Given the description of an element on the screen output the (x, y) to click on. 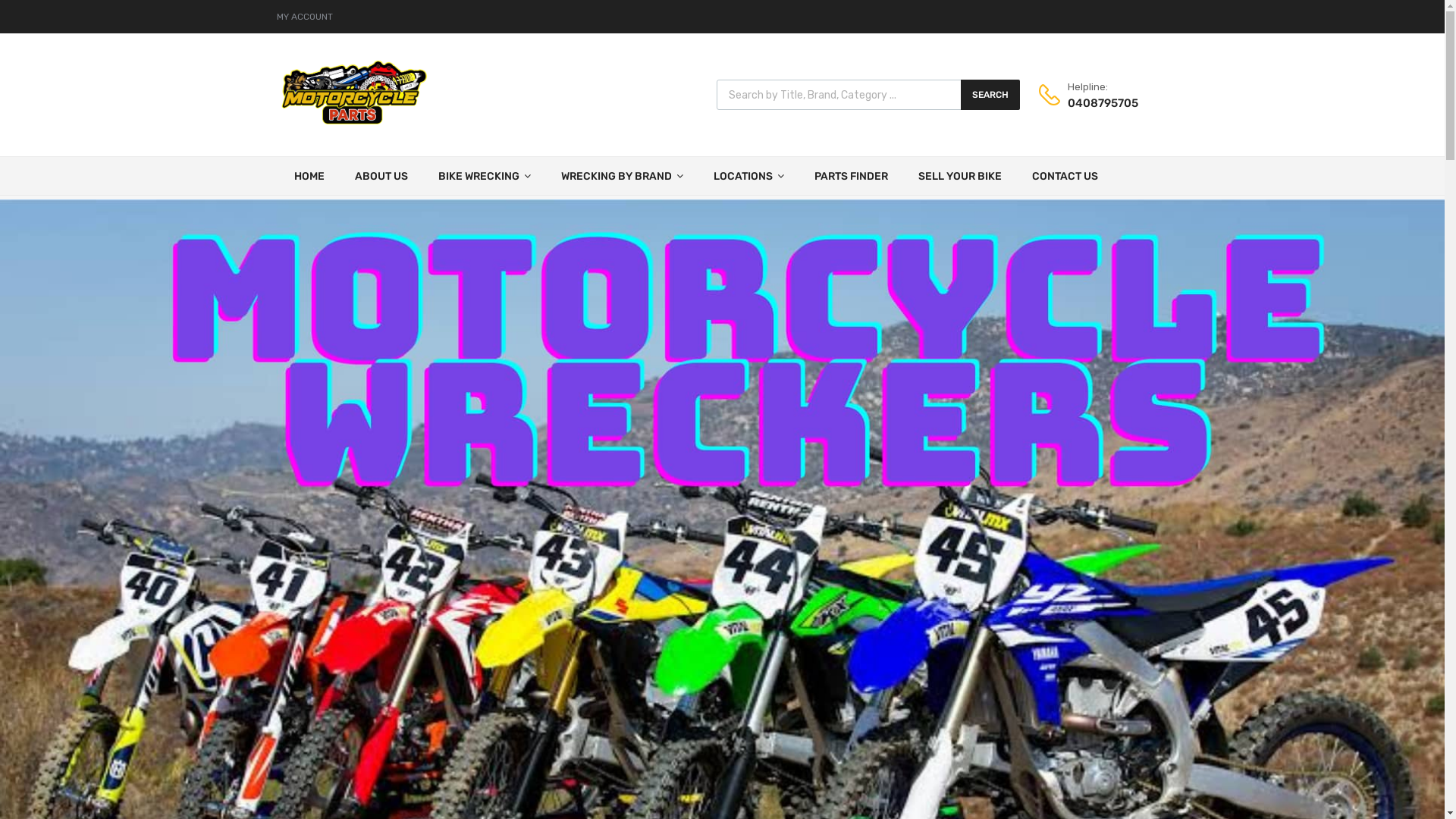
0408795705 Element type: text (1104, 103)
SEARCH Element type: text (989, 94)
WRECKING BY BRAND Element type: text (622, 175)
CONTACT US Element type: text (1064, 175)
LOCATIONS Element type: text (747, 175)
SELL YOUR BIKE Element type: text (959, 175)
MY ACCOUNT Element type: text (304, 16)
HOME Element type: text (309, 175)
ABOUT US Element type: text (381, 175)
PARTS FINDER Element type: text (851, 175)
BIKE WRECKING Element type: text (484, 175)
